Given the description of an element on the screen output the (x, y) to click on. 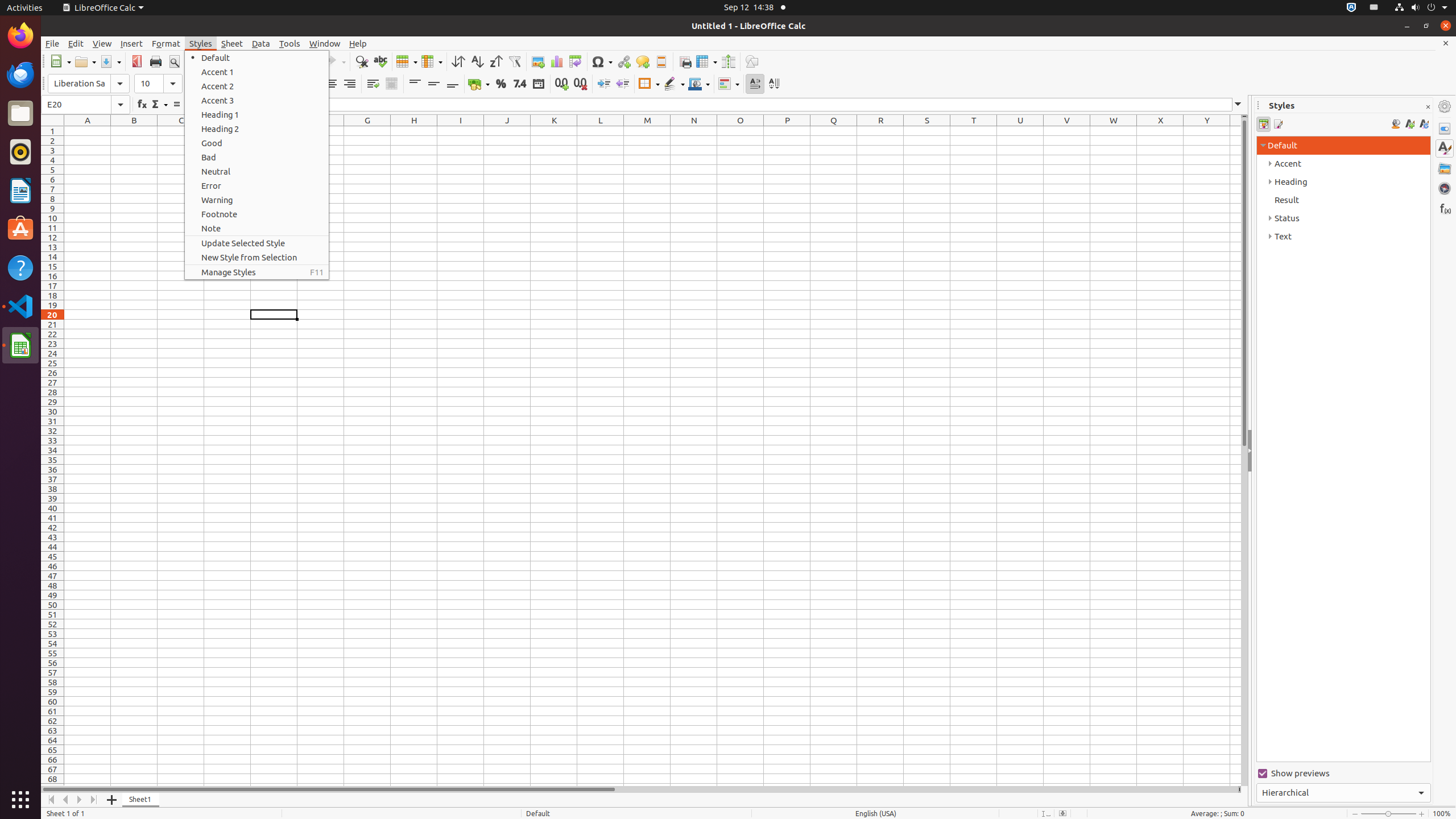
Border Style Element type: push-button (673, 83)
Help Element type: push-button (20, 267)
LibreOffice Calc Element type: push-button (20, 344)
Vertical scroll bar Element type: scroll-bar (1244, 451)
Border Color Element type: push-button (698, 83)
